Given the description of an element on the screen output the (x, y) to click on. 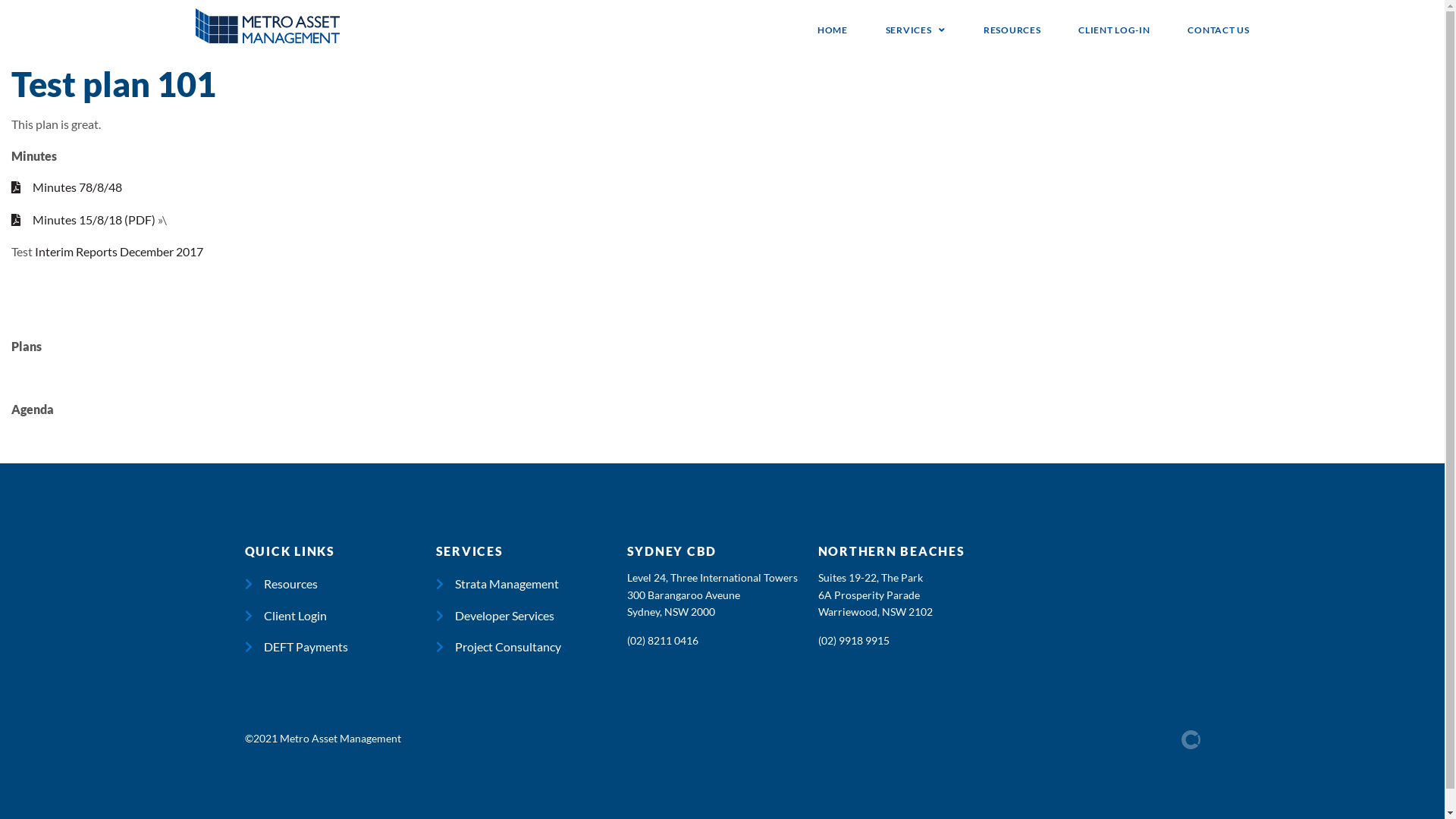
Client Login Element type: text (339, 615)
HOME Element type: text (832, 30)
Project Consultancy Element type: text (530, 646)
Interim Reports December 2017 Element type: text (118, 251)
CONTACT US Element type: text (1217, 30)
DEFT Payments Element type: text (339, 646)
CLIENT LOG-IN Element type: text (1113, 30)
Minutes 15/8/18 (PDF)  Element type: text (84, 219)
Strata Management Element type: text (530, 583)
SERVICES Element type: text (915, 30)
Minutes 78/8/48 Element type: text (66, 186)
Developer Services Element type: text (530, 615)
RESOURCES Element type: text (1011, 30)
Resources Element type: text (339, 583)
